Given the description of an element on the screen output the (x, y) to click on. 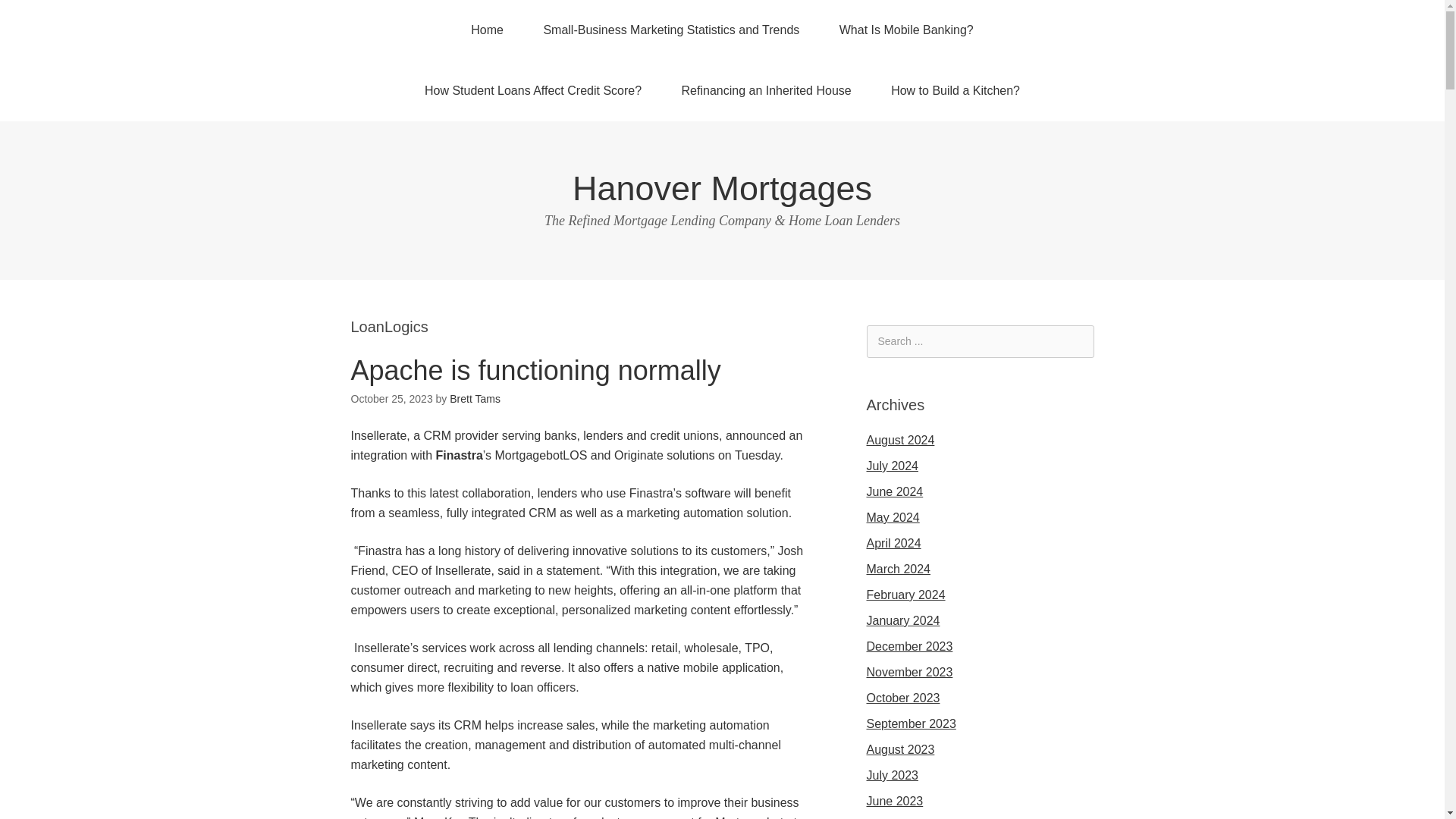
Apache is functioning normally (535, 369)
Posts by Brett Tams (474, 398)
Hanover Mortgages (722, 188)
Home (486, 30)
How to Build a Kitchen? (955, 90)
Wednesday, October 25, 2023, 4:15 am (391, 398)
Refinancing an Inherited House (766, 90)
Hanover Mortgages (722, 188)
How Student Loans Affect Credit Score? (532, 90)
What Is Mobile Banking? (906, 30)
